Given the description of an element on the screen output the (x, y) to click on. 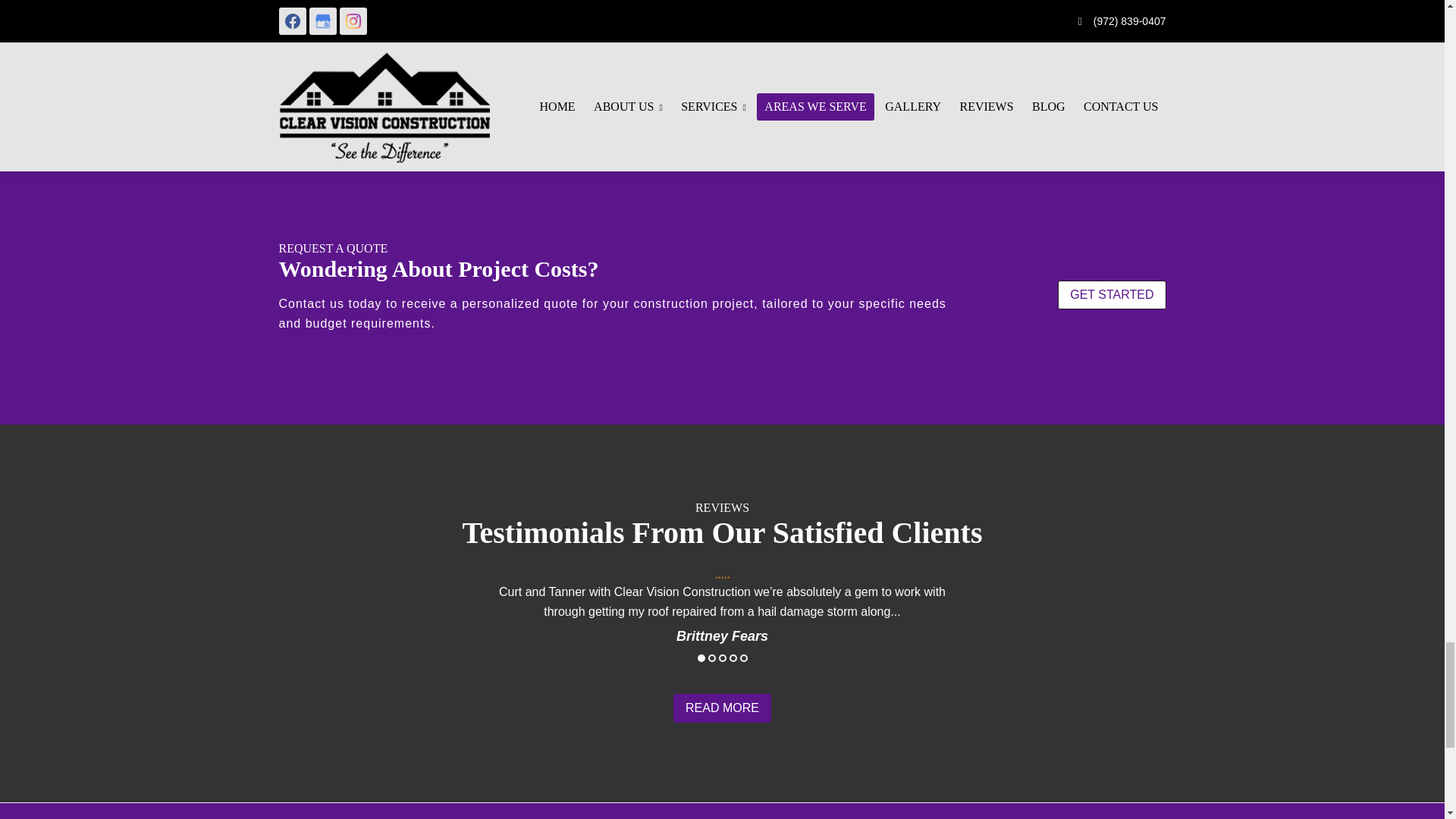
2 (711, 657)
GET STARTED (1112, 294)
1 (700, 657)
LOAD MORE CHECK-INS (567, 61)
